Given the description of an element on the screen output the (x, y) to click on. 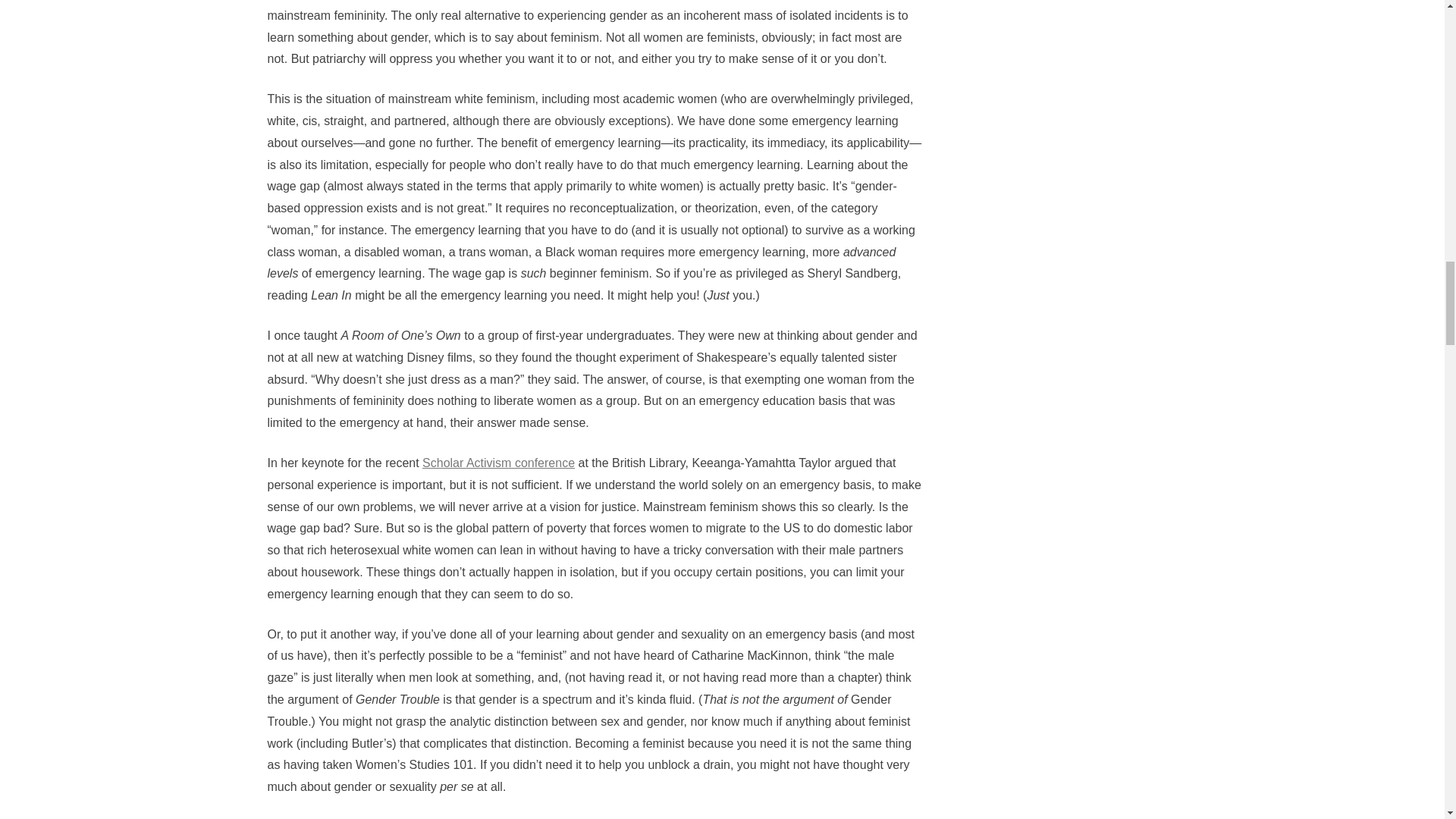
Scholar Activism conference (498, 462)
